Given the description of an element on the screen output the (x, y) to click on. 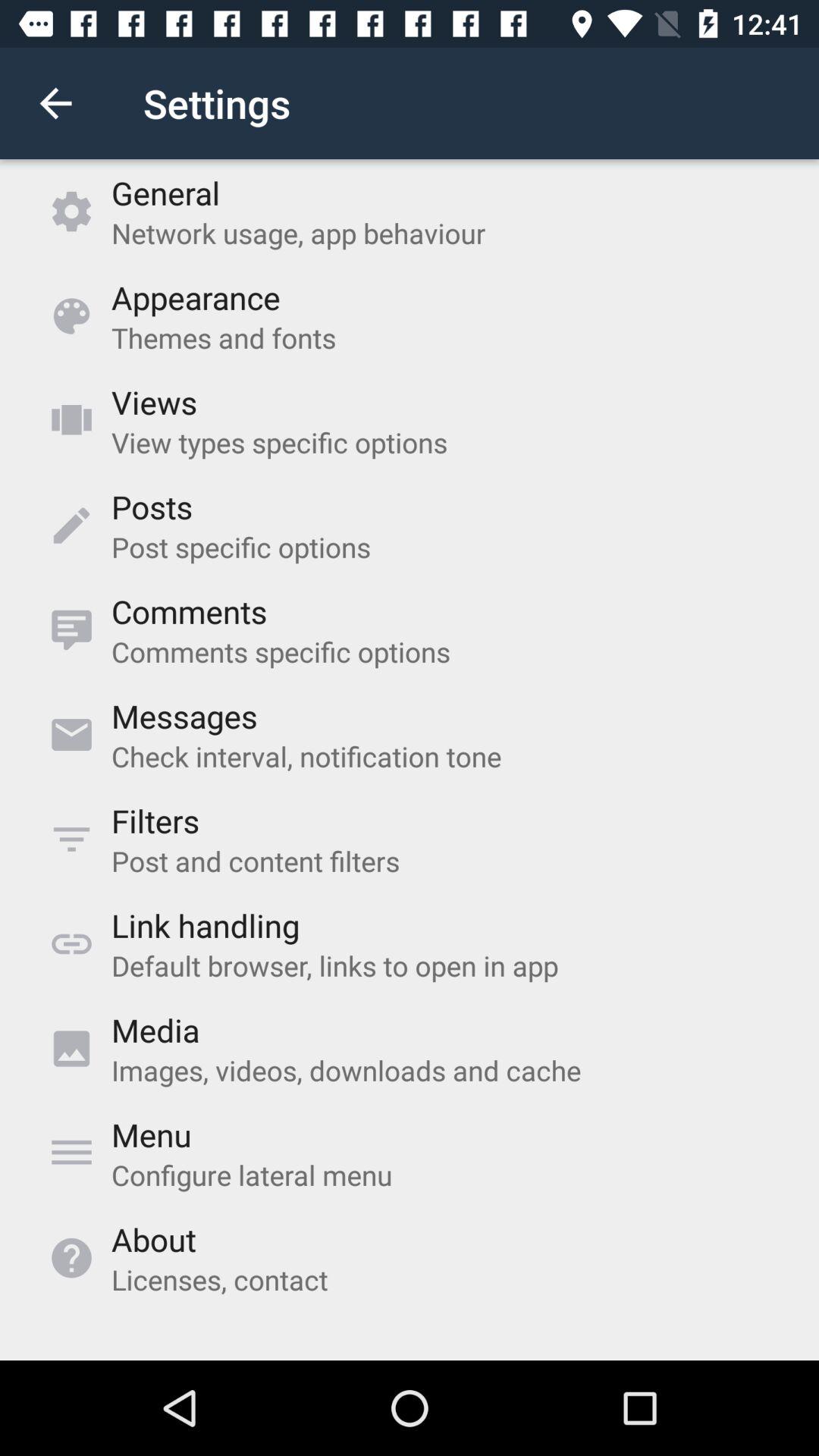
choose the icon below network usage app icon (195, 297)
